Given the description of an element on the screen output the (x, y) to click on. 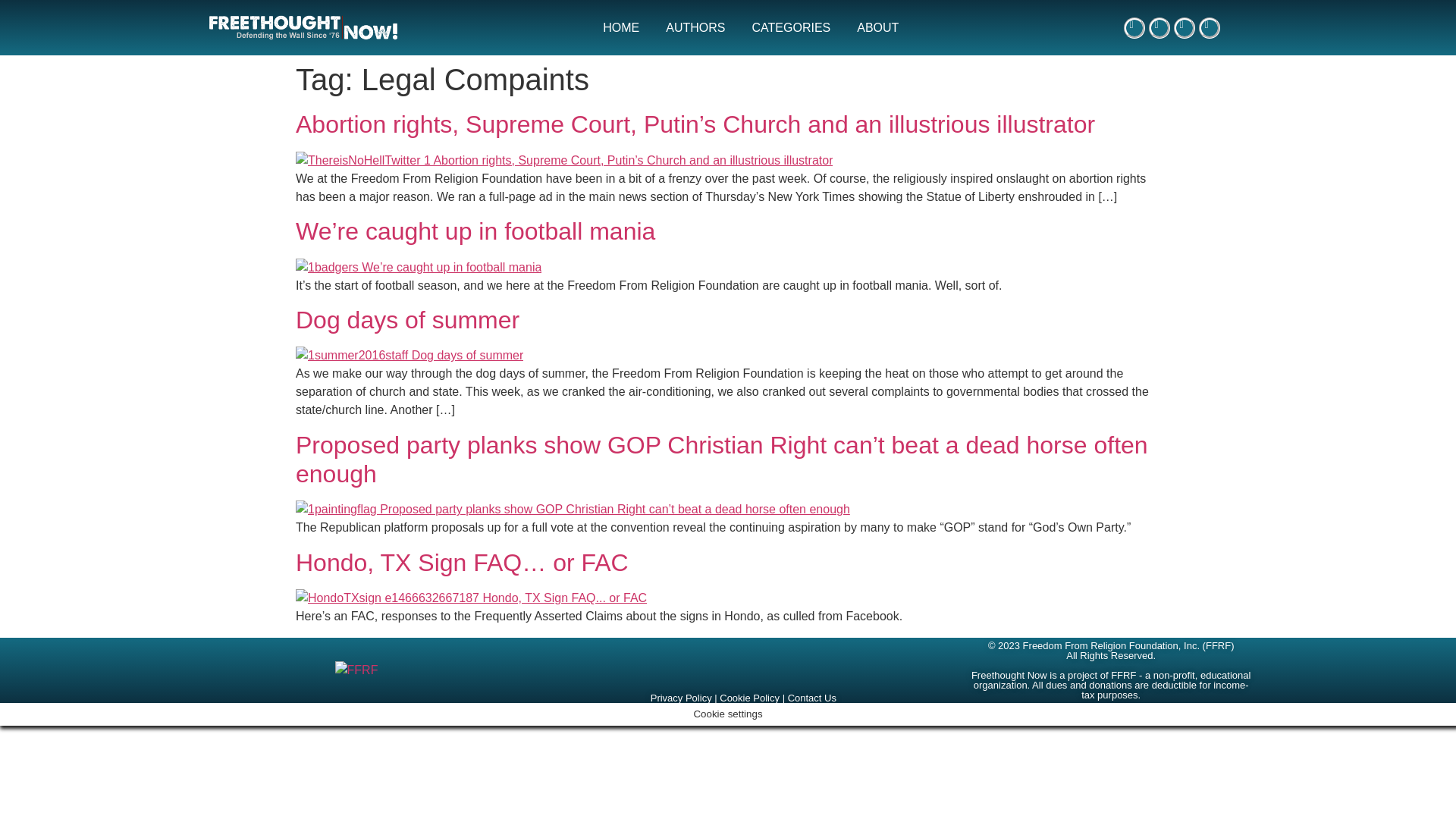
HOME (620, 28)
AUTHORS (695, 28)
ffrf-logo-reverse-raster (356, 669)
ABOUT (877, 28)
CATEGORIES (791, 28)
